Given the description of an element on the screen output the (x, y) to click on. 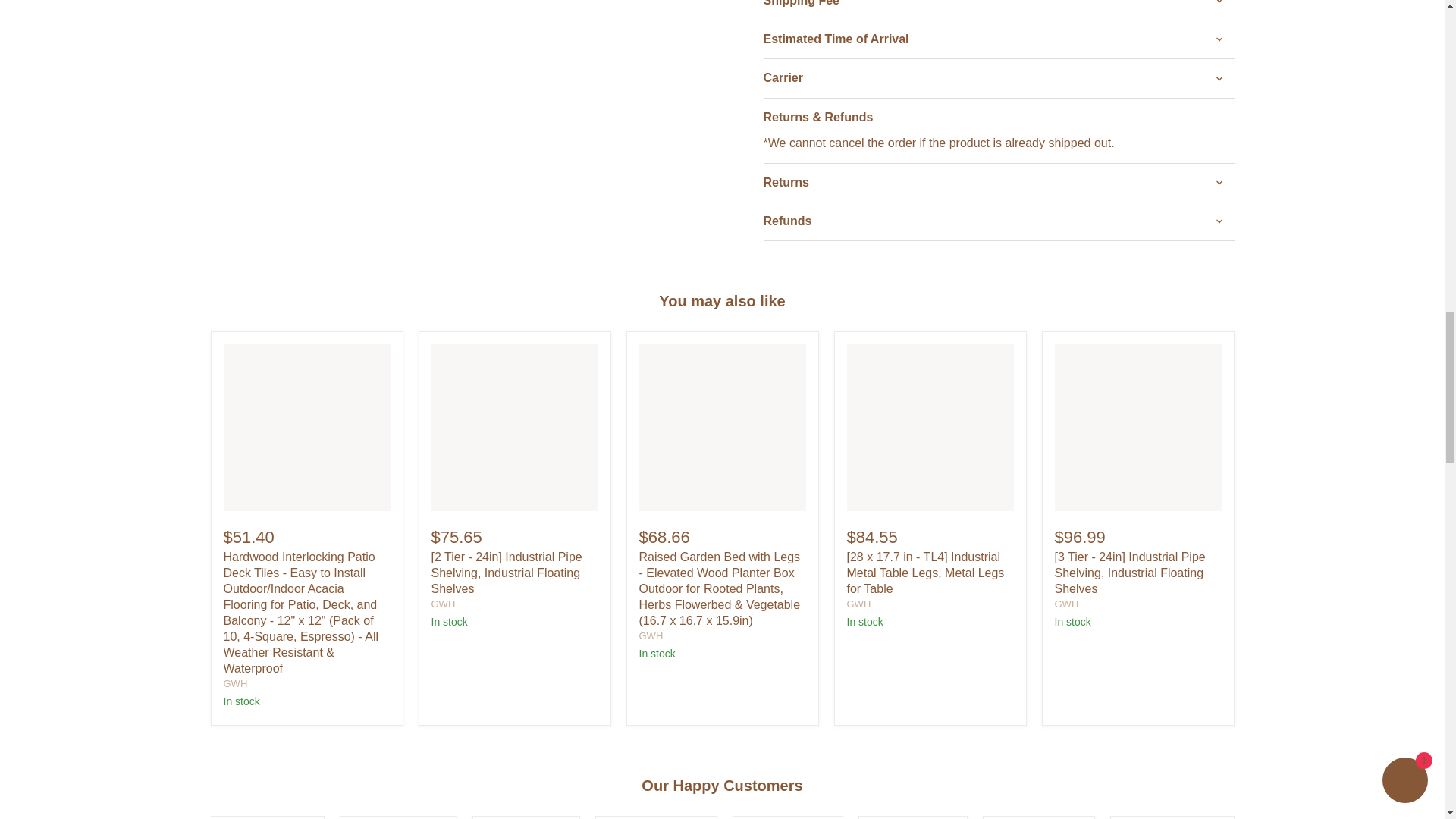
GWH (234, 683)
